Given the description of an element on the screen output the (x, y) to click on. 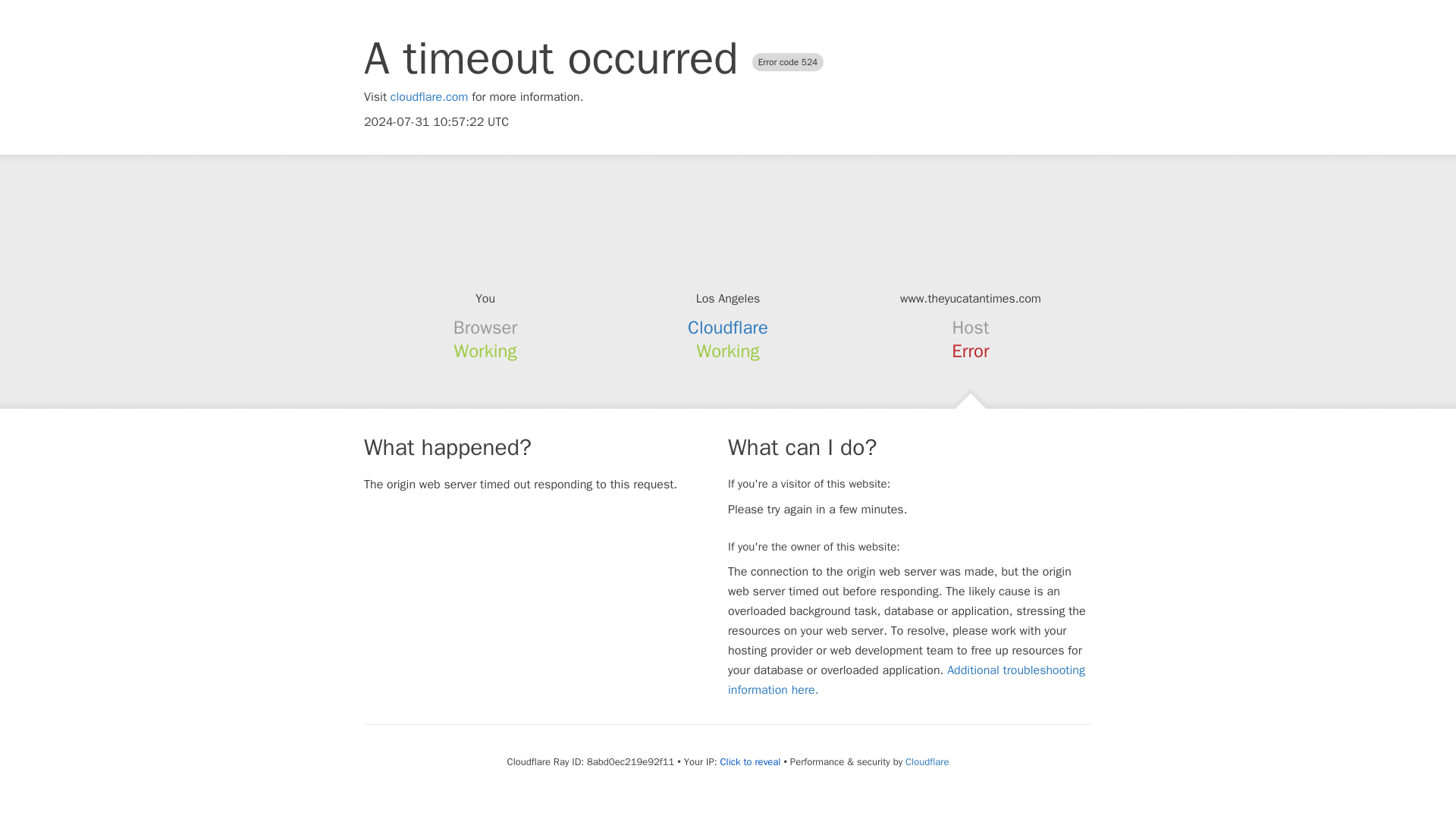
cloudflare.com (429, 96)
Cloudflare (727, 327)
Cloudflare (927, 761)
Additional troubleshooting information here. (906, 679)
Click to reveal (750, 762)
